Given the description of an element on the screen output the (x, y) to click on. 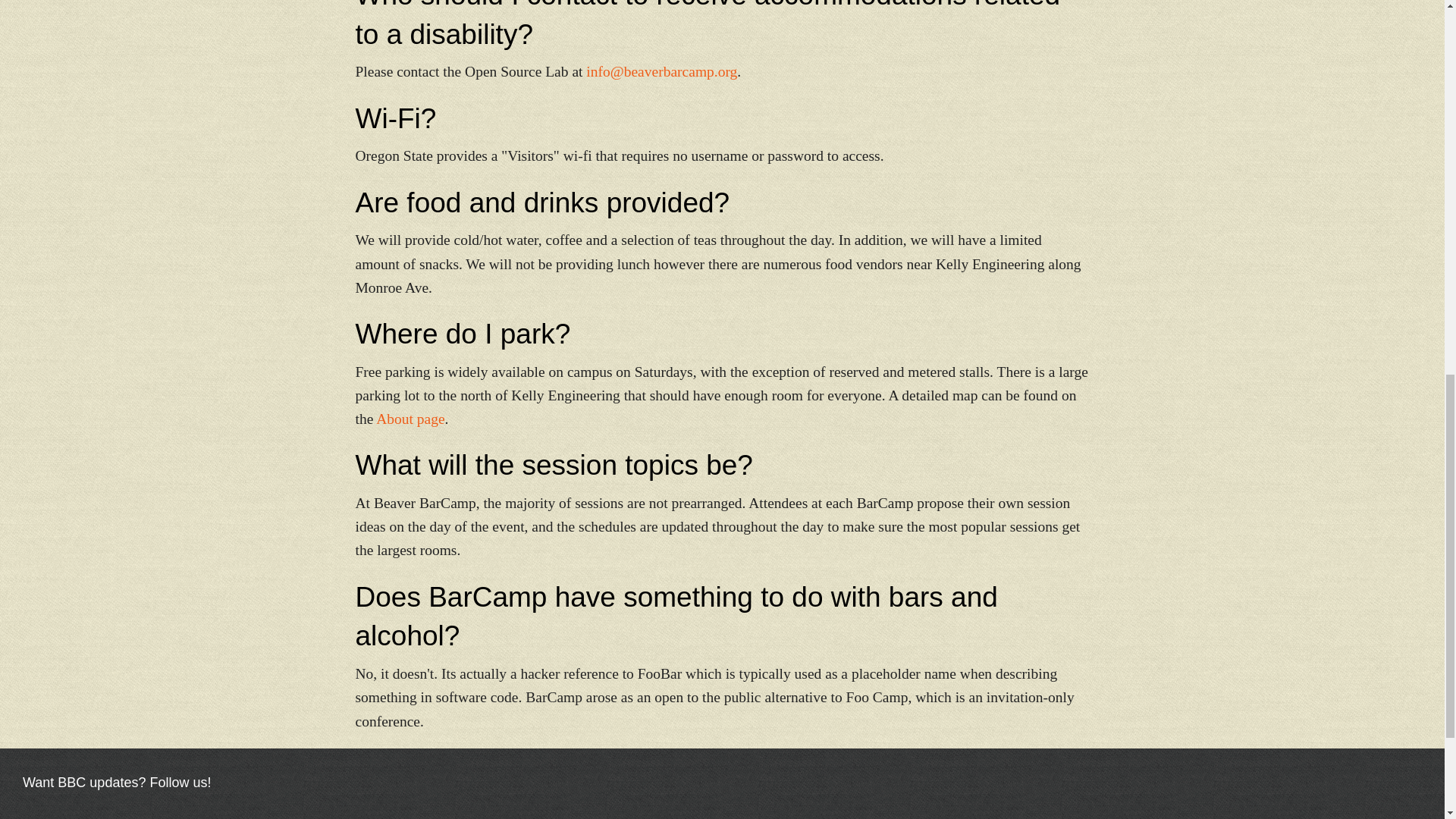
About page (409, 418)
